Given the description of an element on the screen output the (x, y) to click on. 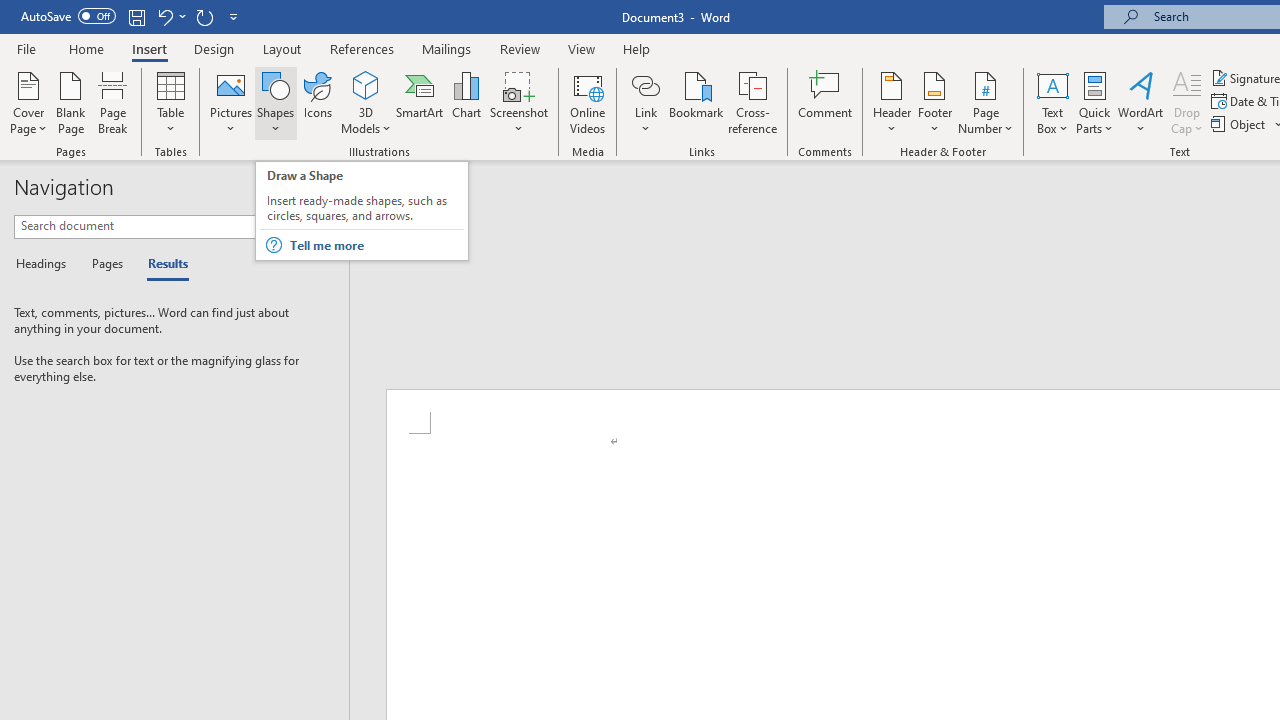
Online Videos... (588, 102)
Screenshot (518, 102)
Quick Parts (1094, 102)
Tell me more (375, 245)
Icons (317, 102)
Page Number (986, 102)
Shapes (275, 102)
3D Models (366, 102)
